Given the description of an element on the screen output the (x, y) to click on. 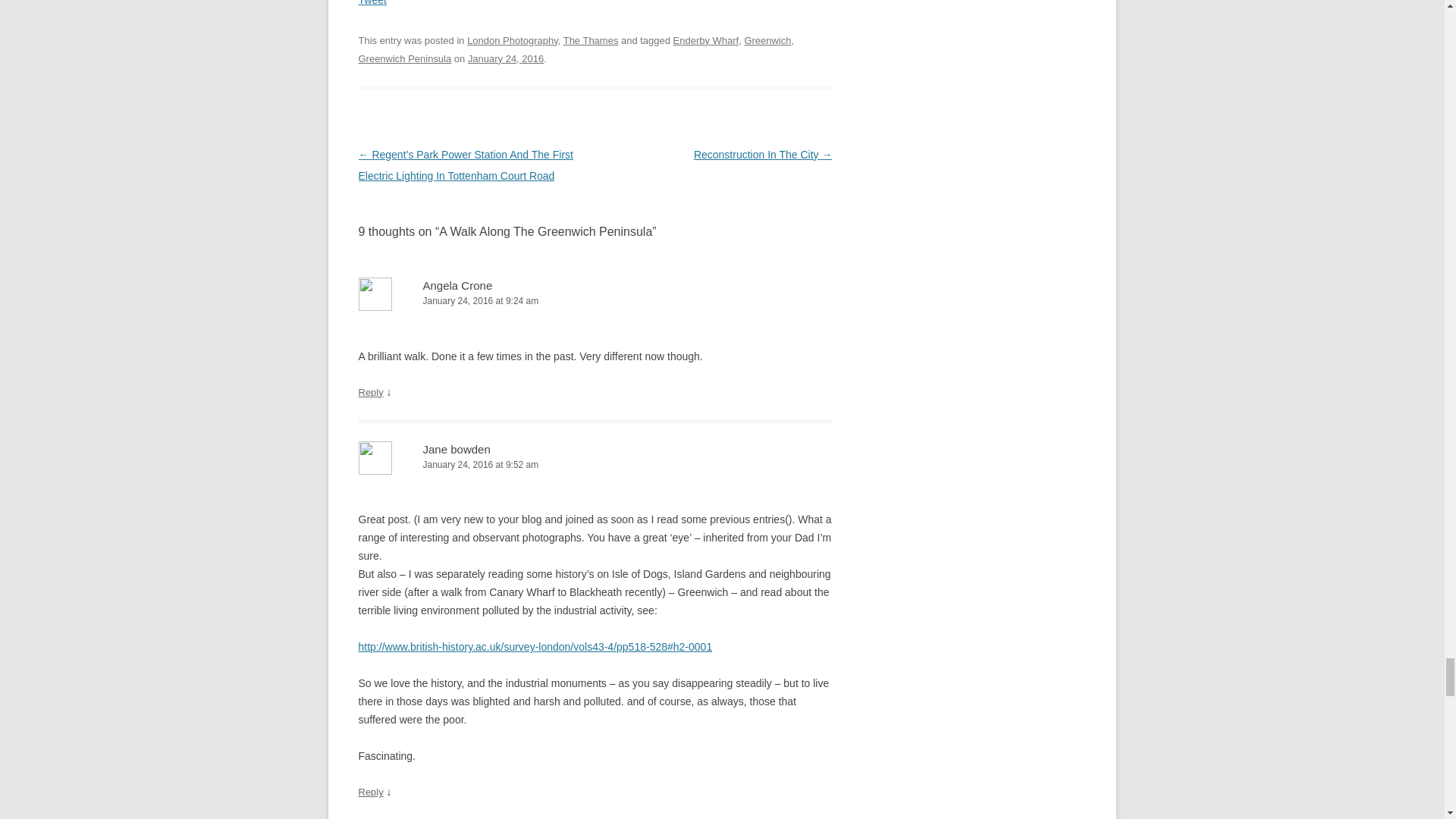
8:34 am (505, 58)
